Given the description of an element on the screen output the (x, y) to click on. 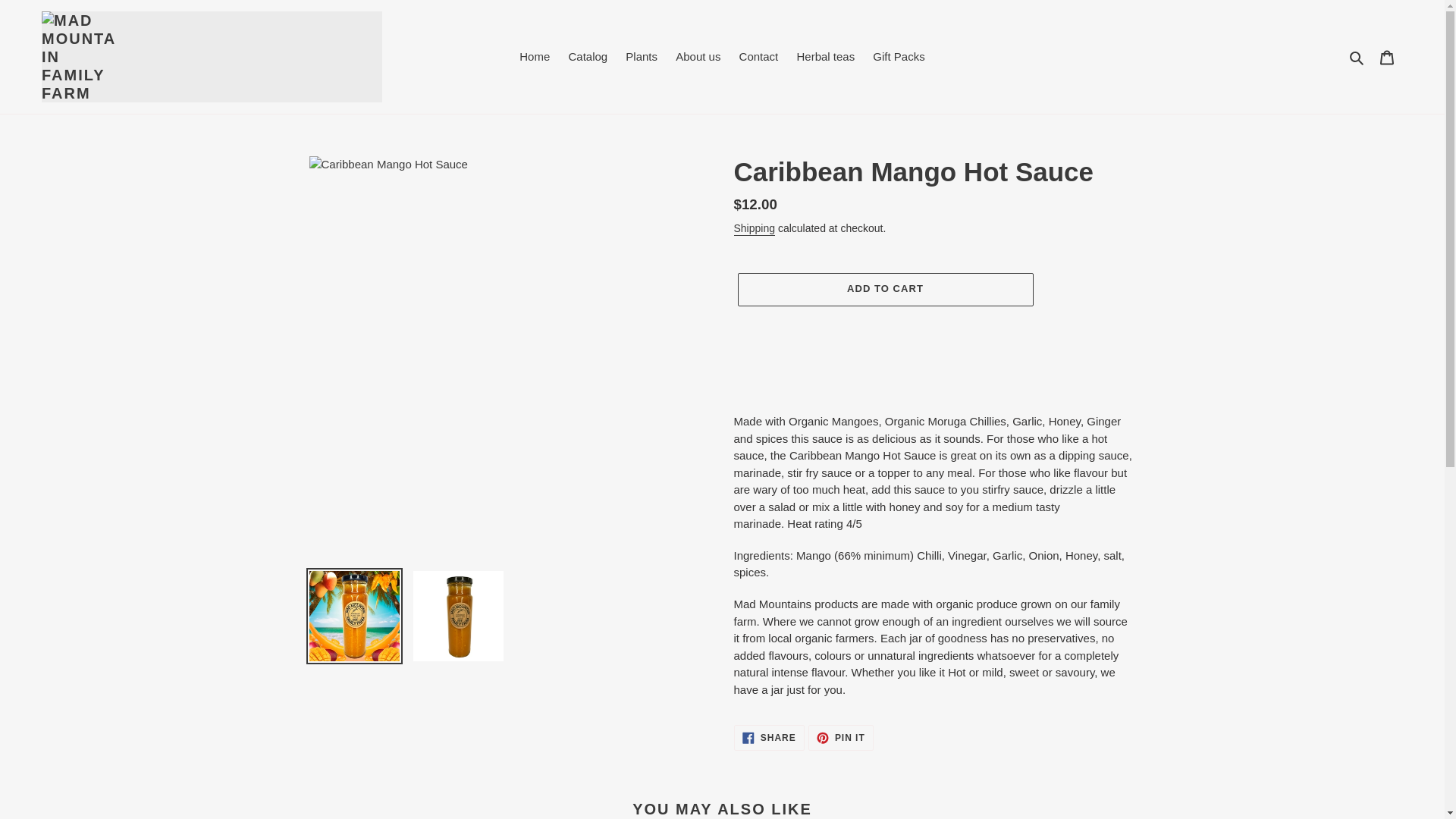
Home (534, 56)
Gift Packs (897, 56)
Plants (641, 56)
Contact (759, 56)
Cart (1387, 56)
ADD TO CART (884, 289)
About us (698, 56)
Search (769, 737)
Herbal teas (1357, 56)
